Given the description of an element on the screen output the (x, y) to click on. 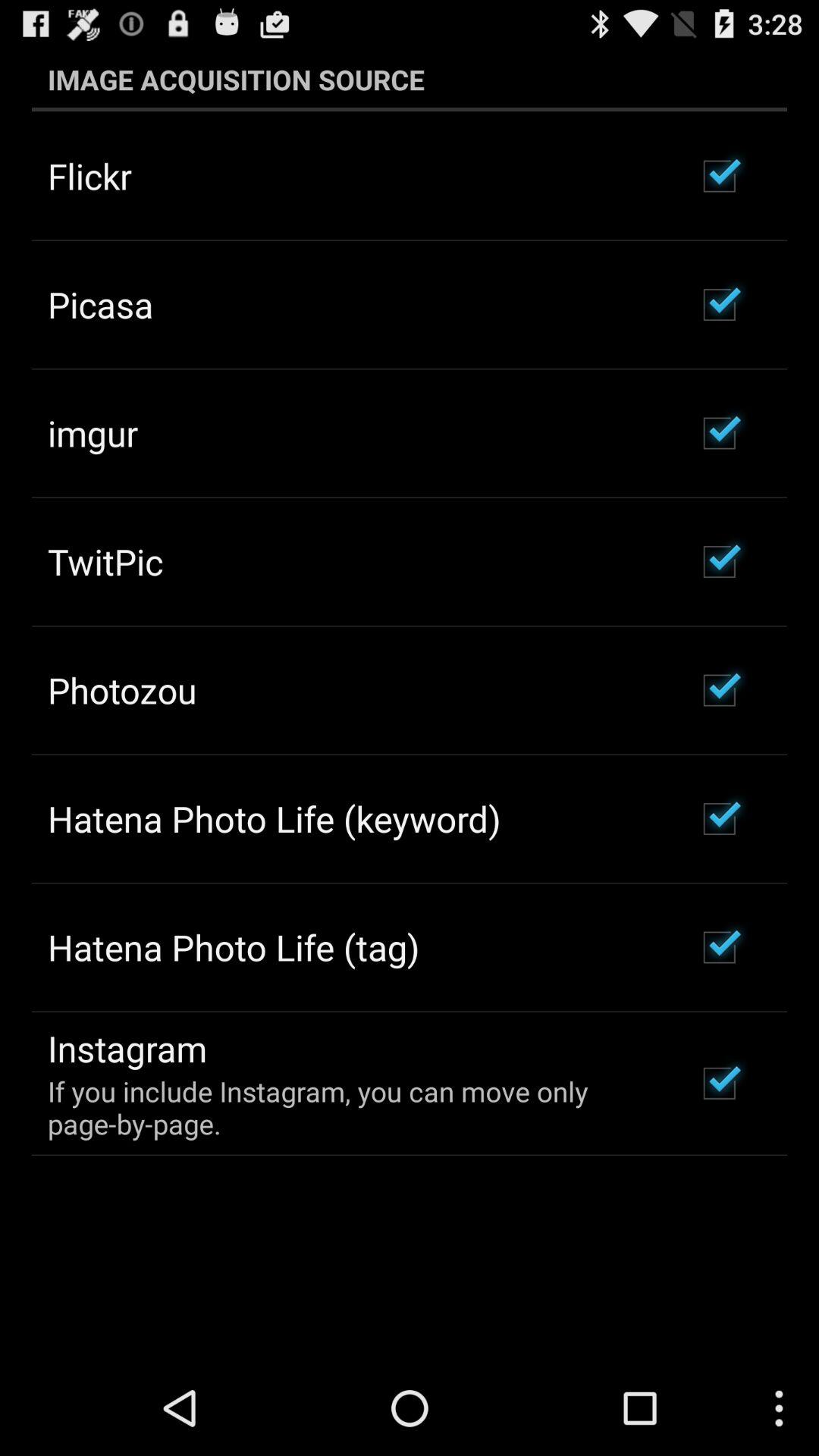
flip to if you include icon (351, 1107)
